Given the description of an element on the screen output the (x, y) to click on. 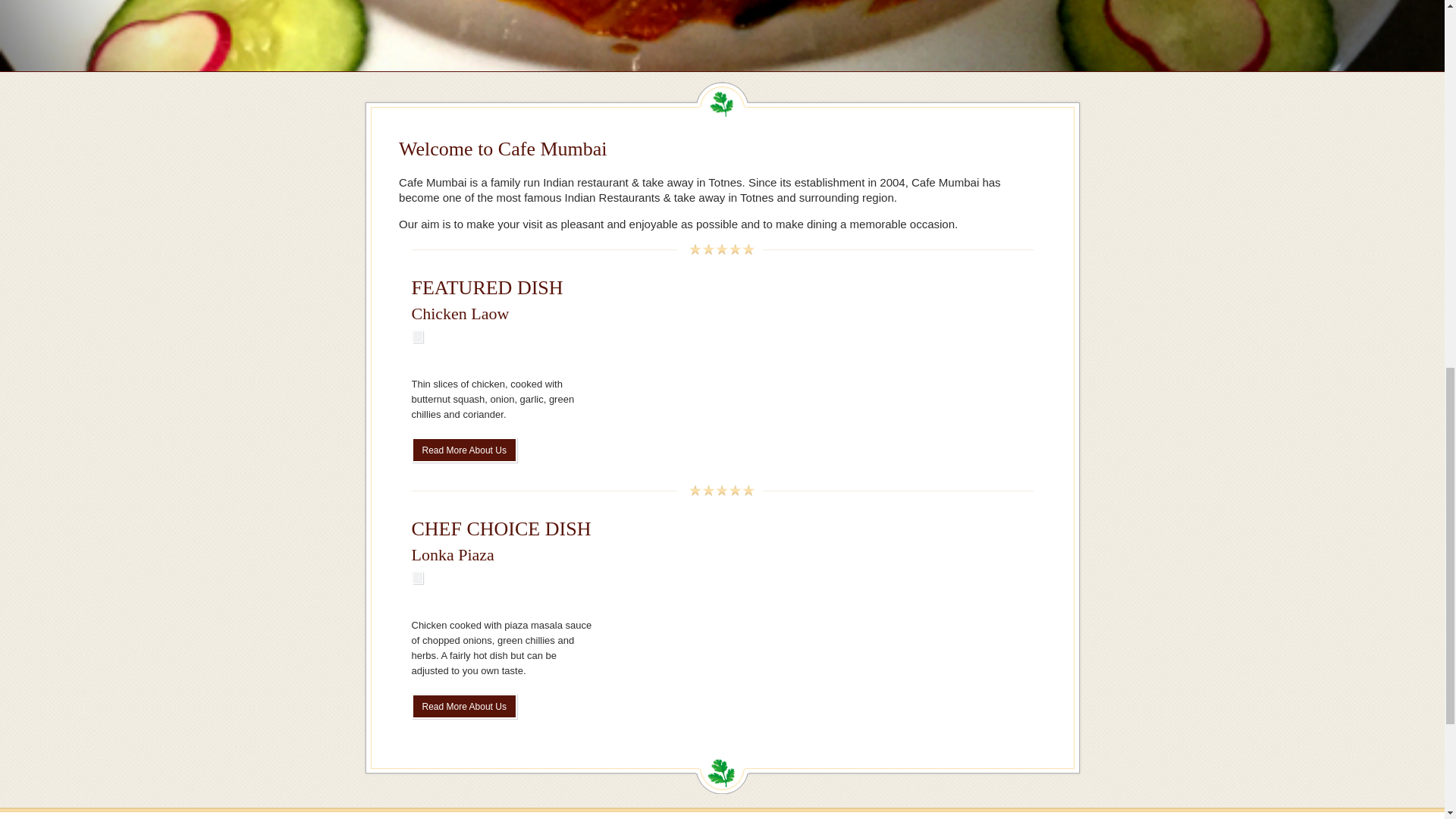
Read More About Us (463, 449)
Read More About Us (463, 706)
